Given the description of an element on the screen output the (x, y) to click on. 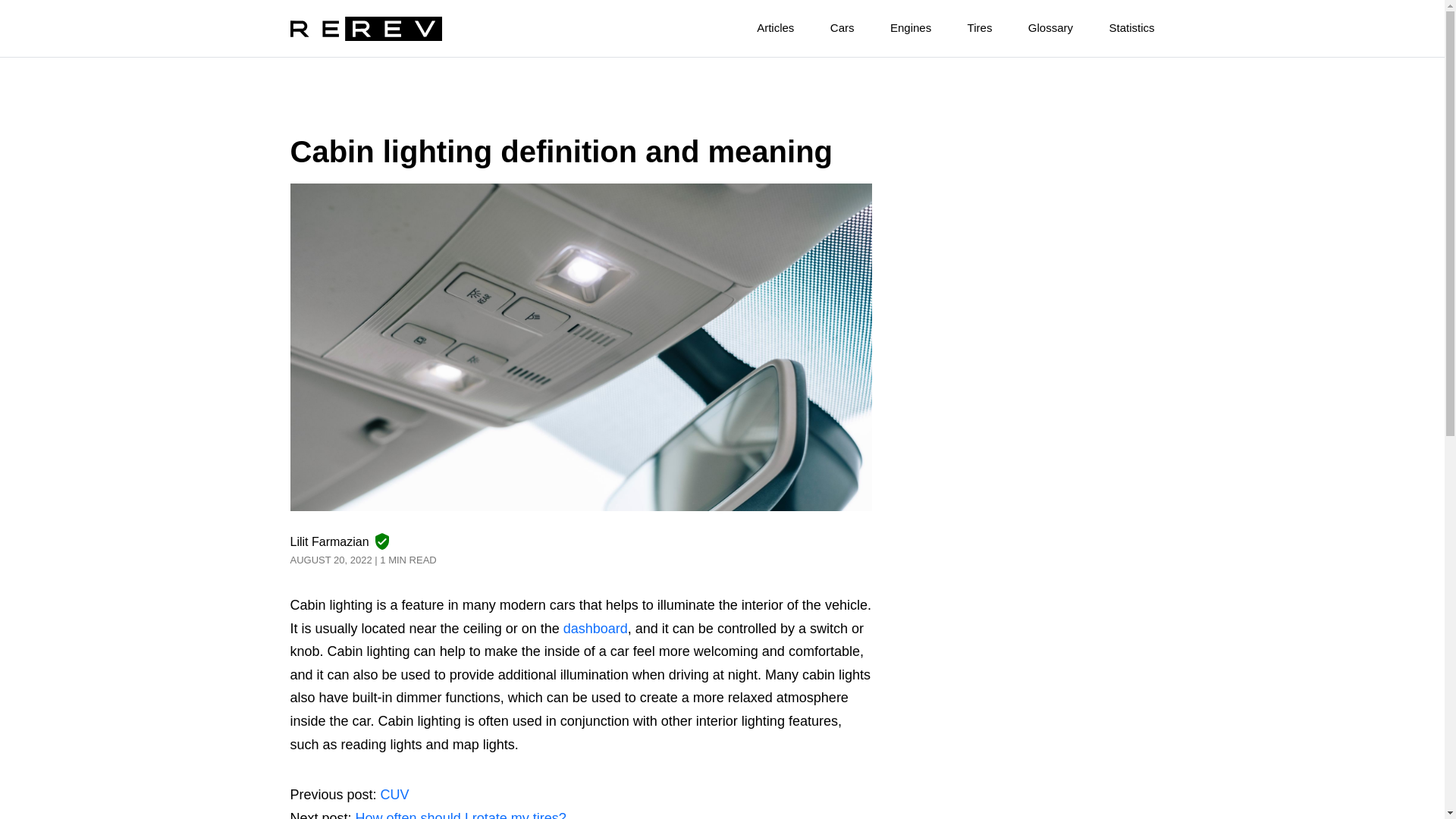
Cars (825, 24)
Tires (963, 24)
How often should I rotate my tires? (460, 814)
Statistics (1114, 24)
CUV (394, 794)
Articles (758, 24)
dashboard (595, 628)
REREV (365, 28)
Glossary (1034, 24)
Engines (894, 24)
